Given the description of an element on the screen output the (x, y) to click on. 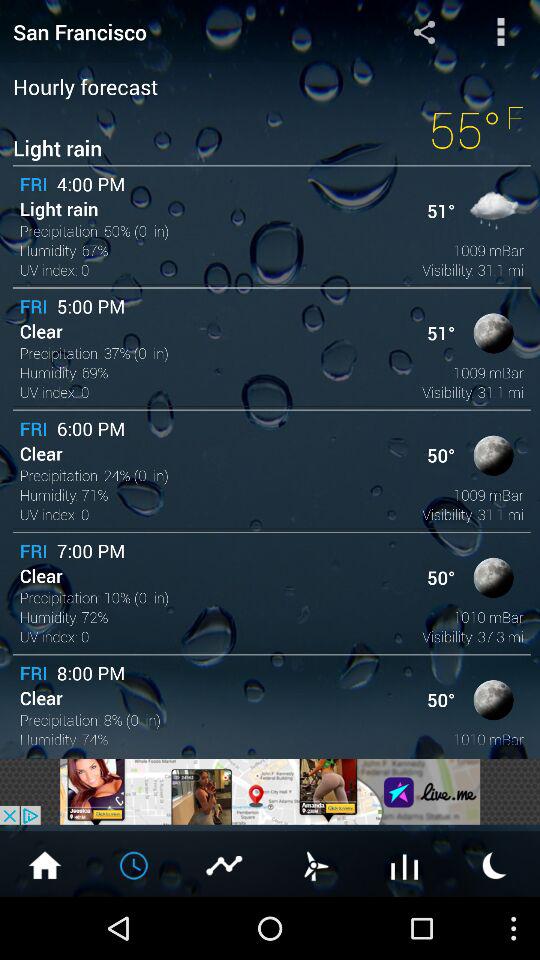
choose the item above hourly forecast app (179, 31)
